Given the description of an element on the screen output the (x, y) to click on. 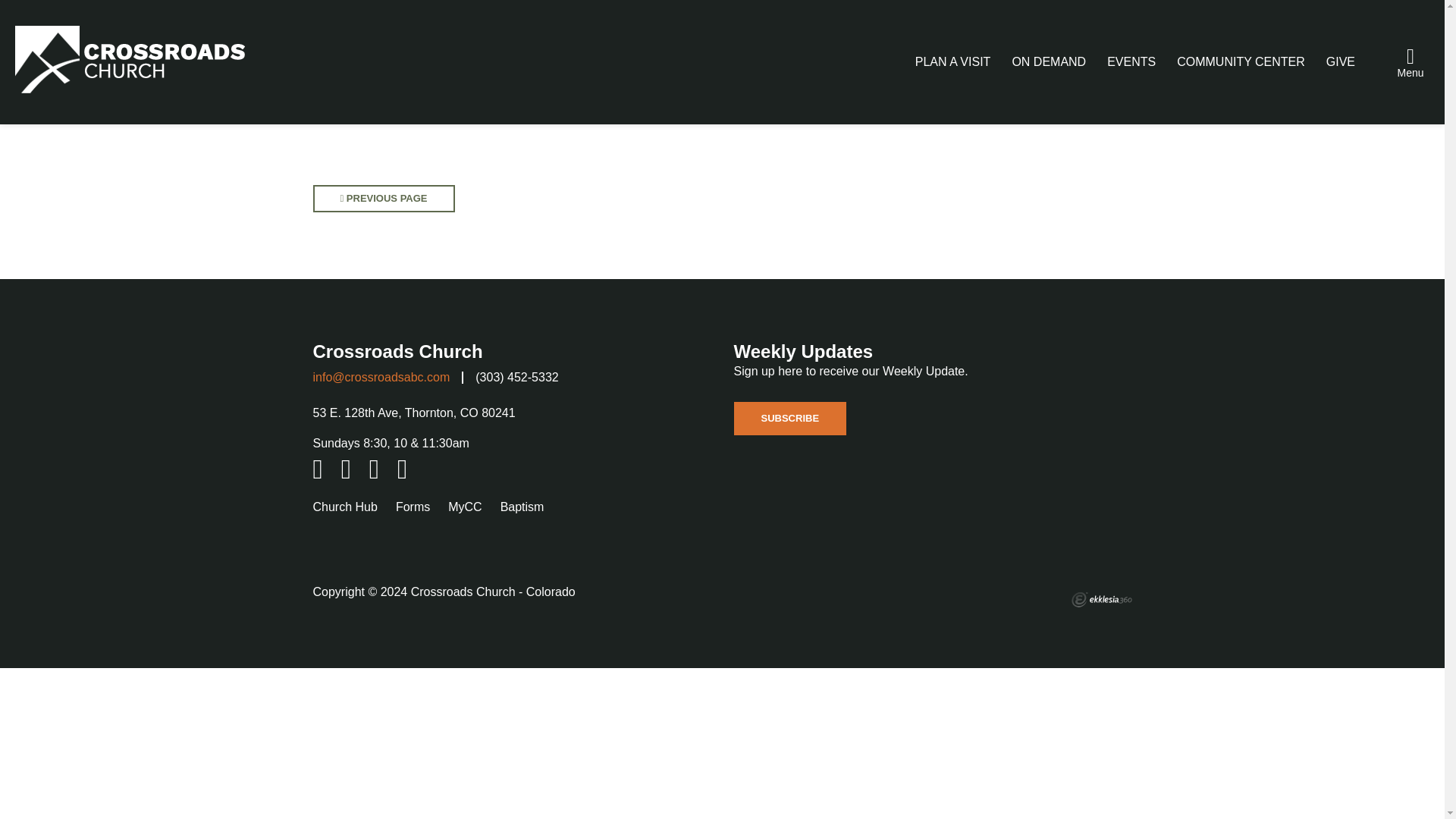
GIVE (1340, 61)
Give (1340, 61)
On Demand (1048, 61)
Community Center (1240, 61)
ON DEMAND (1048, 61)
PLAN A VISIT (953, 61)
Plan a Visit (953, 61)
Events (1131, 61)
EVENTS (1131, 61)
COMMUNITY CENTER (1240, 61)
